Given the description of an element on the screen output the (x, y) to click on. 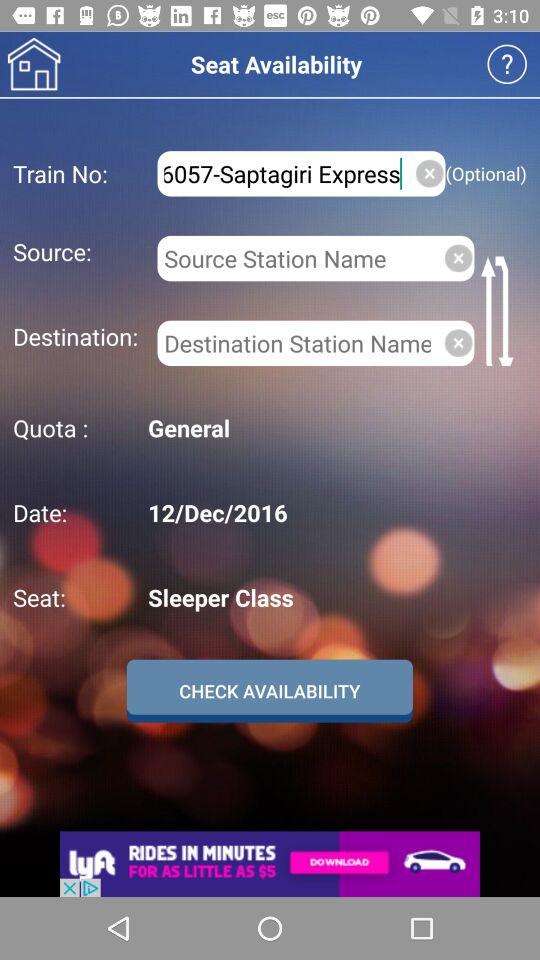
go home (33, 63)
